Given the description of an element on the screen output the (x, y) to click on. 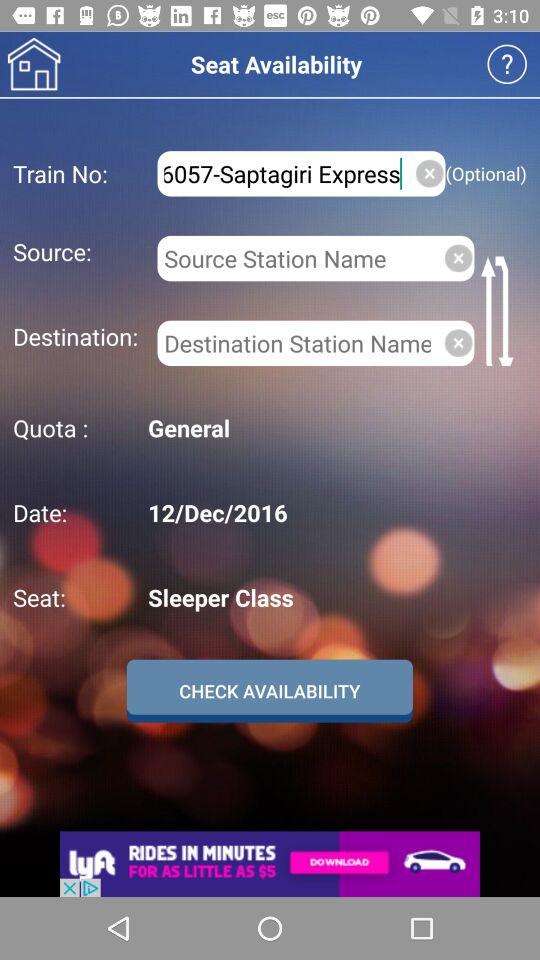
go home (33, 63)
